Given the description of an element on the screen output the (x, y) to click on. 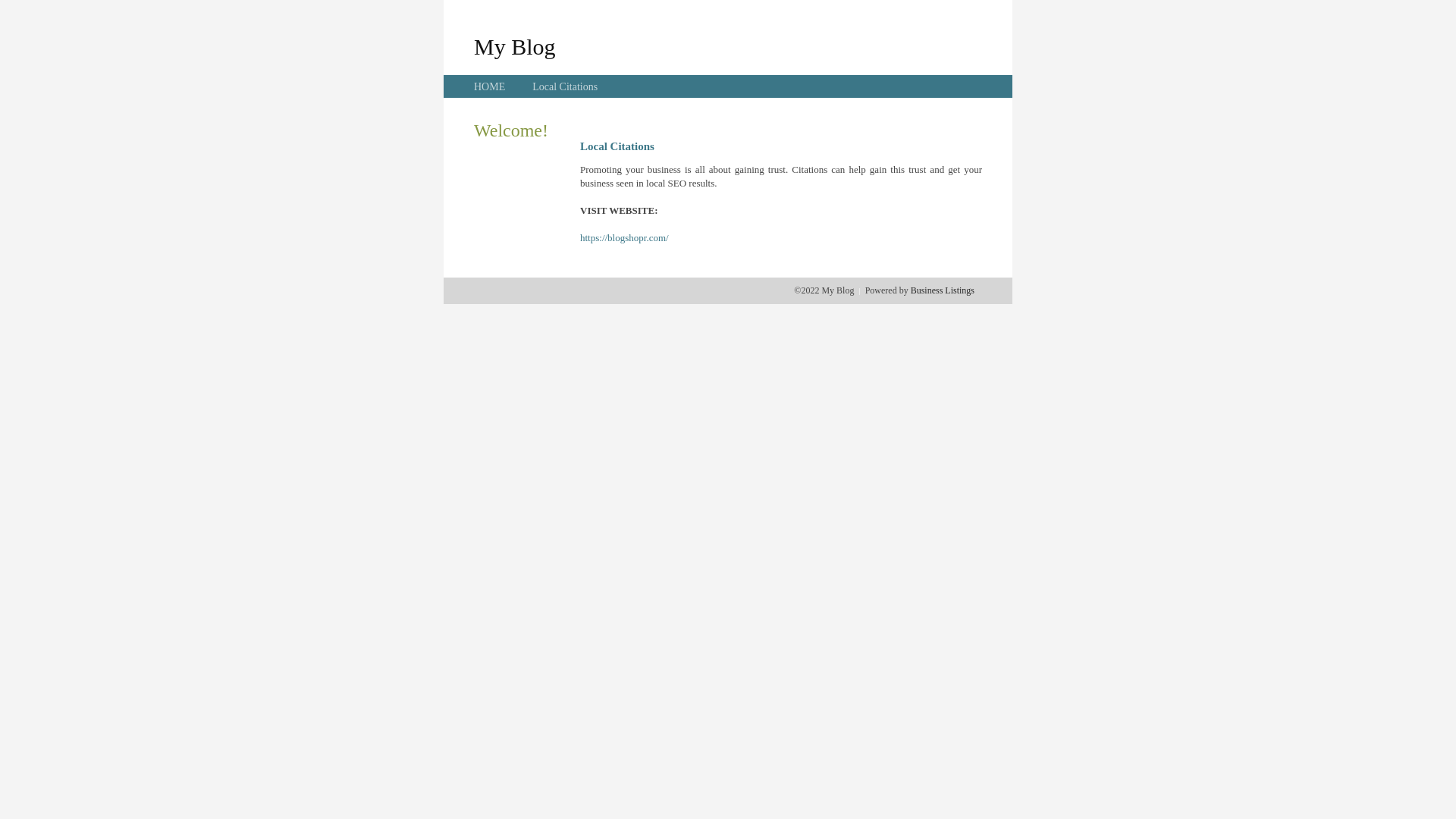
My Blog Element type: text (514, 46)
https://blogshopr.com/ Element type: text (624, 237)
HOME Element type: text (489, 86)
Local Citations Element type: text (564, 86)
Business Listings Element type: text (942, 290)
